Given the description of an element on the screen output the (x, y) to click on. 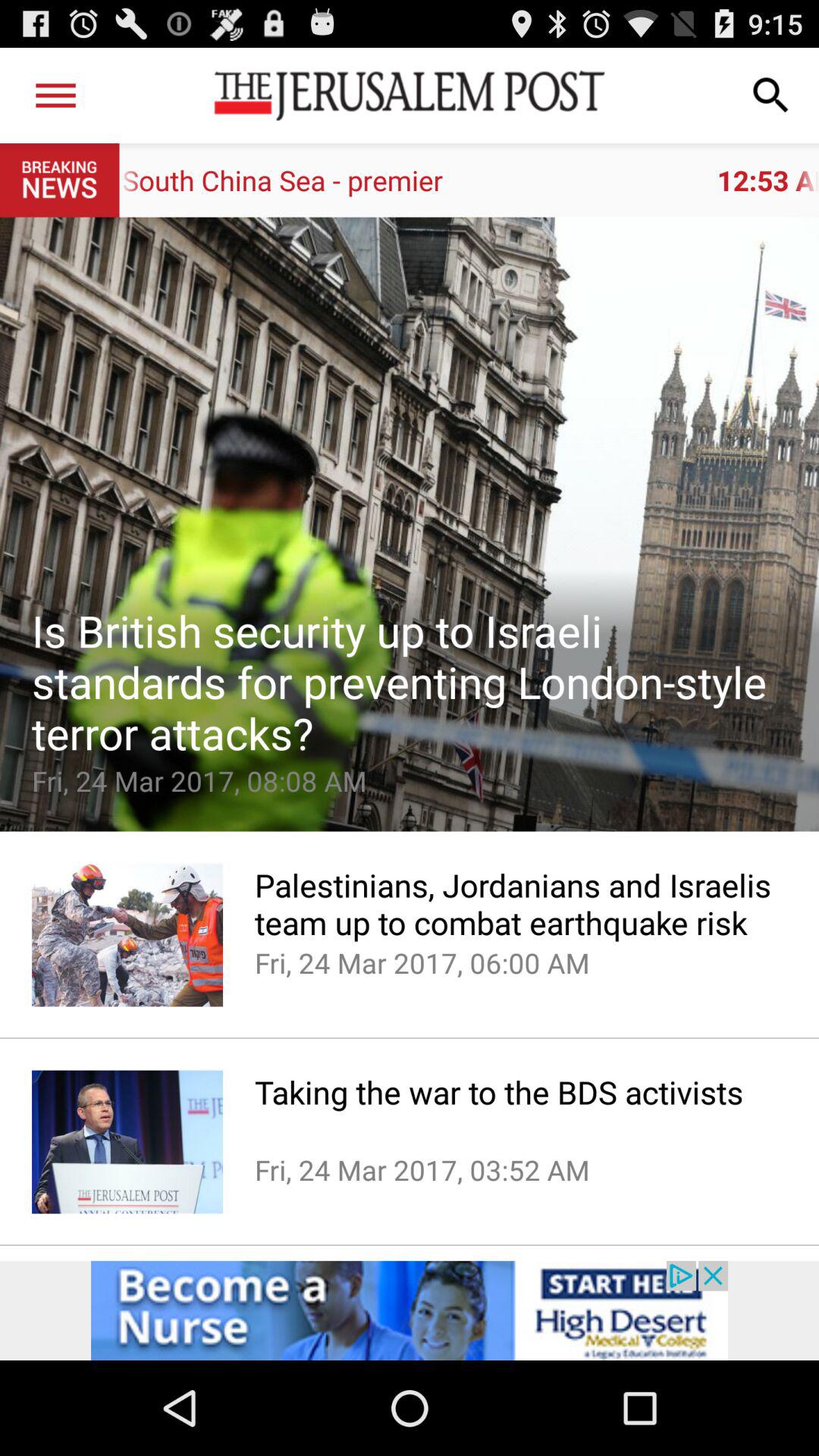
site directory (55, 95)
